Given the description of an element on the screen output the (x, y) to click on. 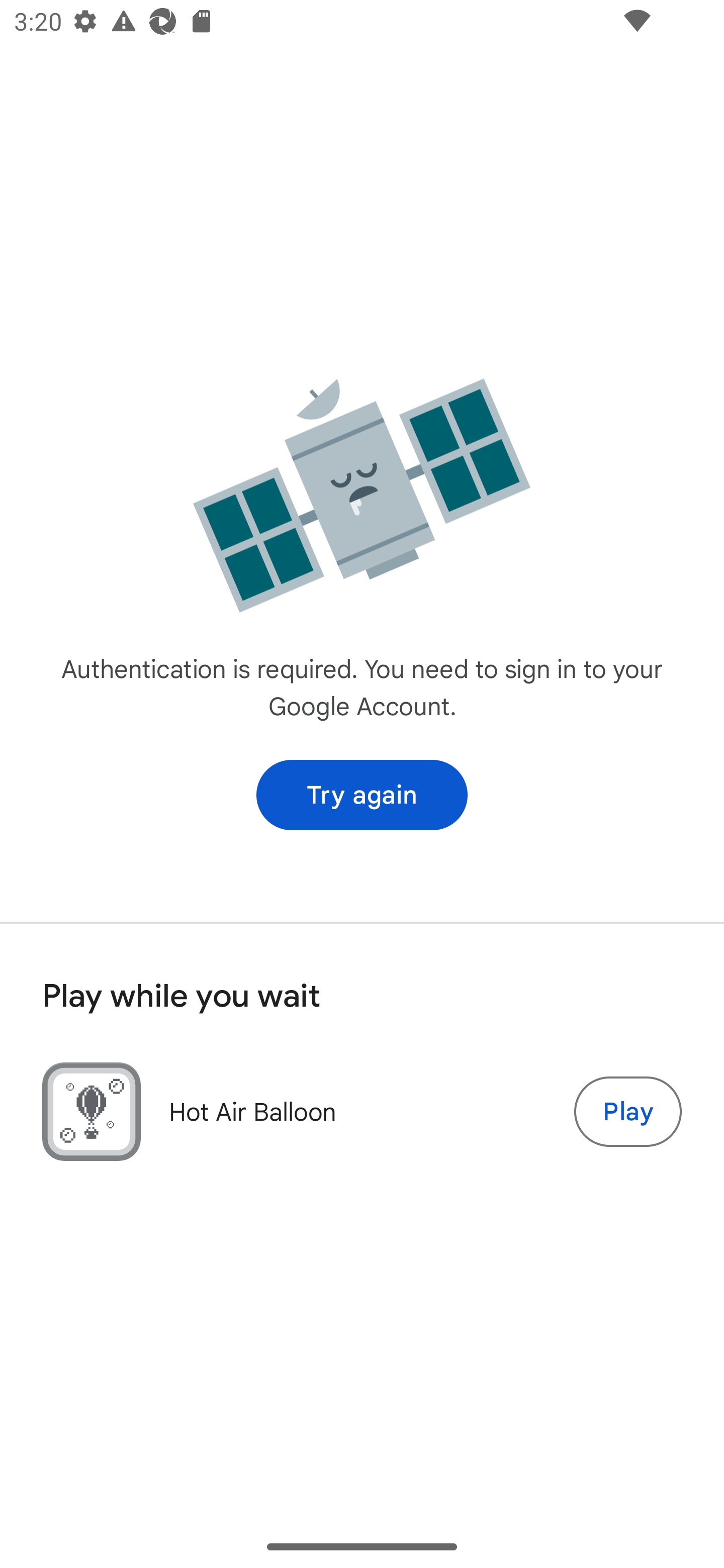
Try again (361, 794)
Play (628, 1111)
